Given the description of an element on the screen output the (x, y) to click on. 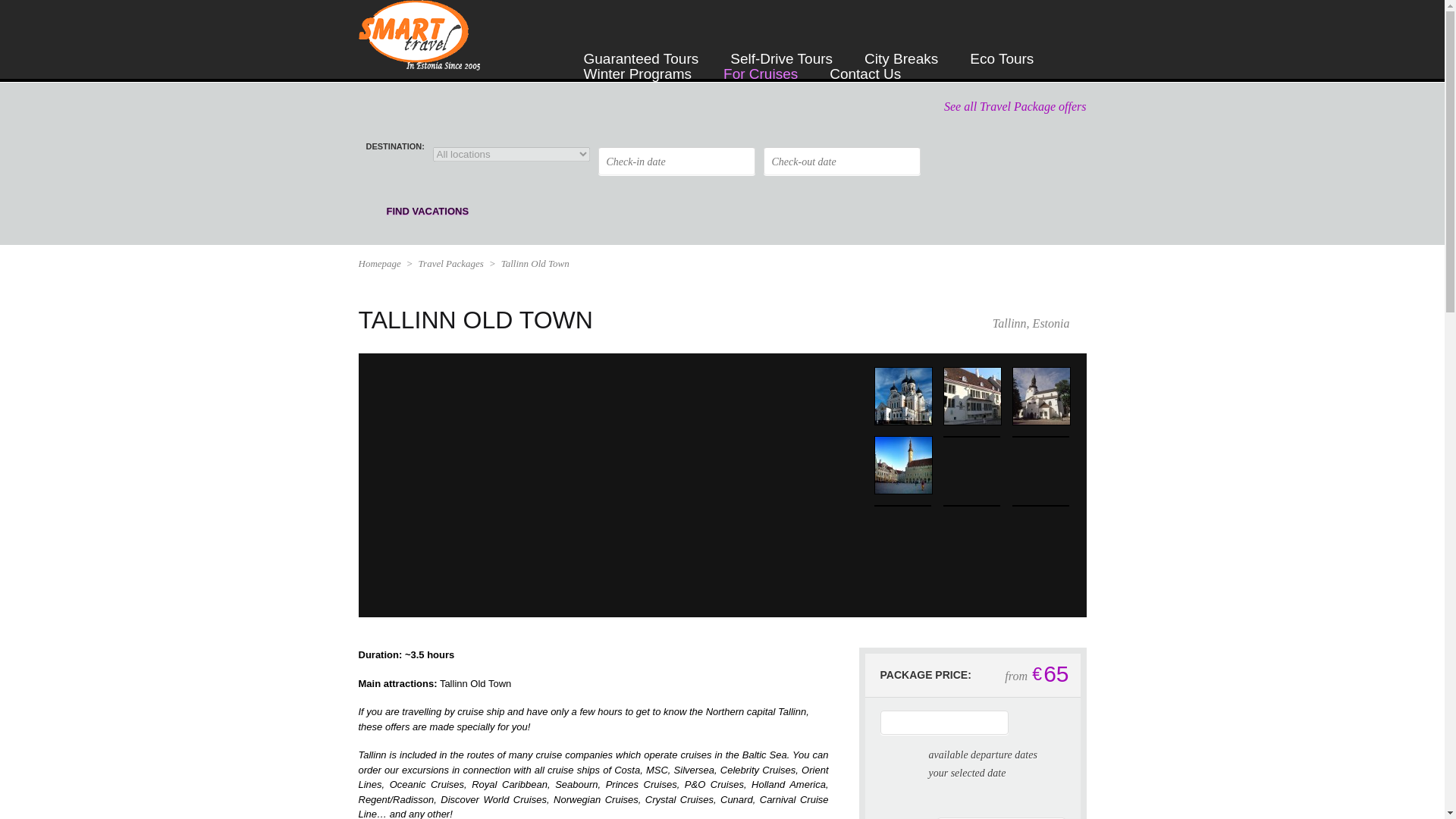
Eco Tours (1001, 46)
For Cruises (760, 61)
Check-out date (841, 161)
City Breaks (900, 46)
Check-in date (676, 161)
FIND VACATIONS (453, 212)
Winter Programs (638, 61)
Guaranteed Tours (640, 46)
Self-Drive Tours (781, 46)
Home (545, 59)
